Given the description of an element on the screen output the (x, y) to click on. 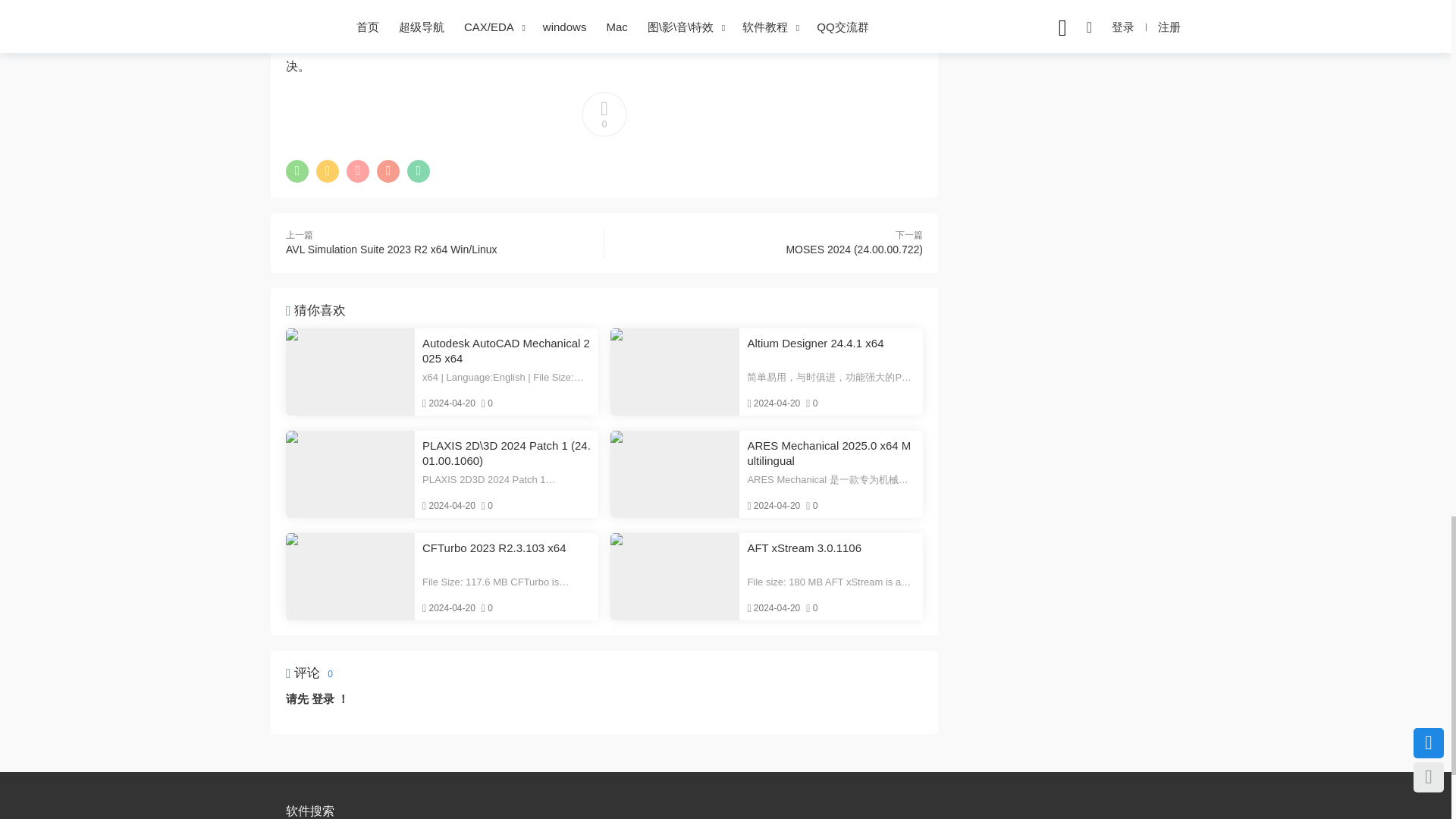
AFT xStream 3.0.1106 (831, 555)
Altium Designer 24.4.1 x64 (674, 371)
Autodesk AutoCAD Mechanical 2025 x64 (507, 350)
CFTurbo 2023 R2.3.103 x64 (507, 555)
ARES Mechanical 2025.0 x64 Multilingual (674, 473)
ARES Mechanical 2025.0 x64 Multilingual (831, 453)
AFT xStream 3.0.1106 (674, 576)
CFTurbo 2023 R2.3.103 x64 (349, 576)
Altium Designer 24.4.1 x64 (831, 350)
Autodesk AutoCAD Mechanical 2025 x64 (349, 371)
